Given the description of an element on the screen output the (x, y) to click on. 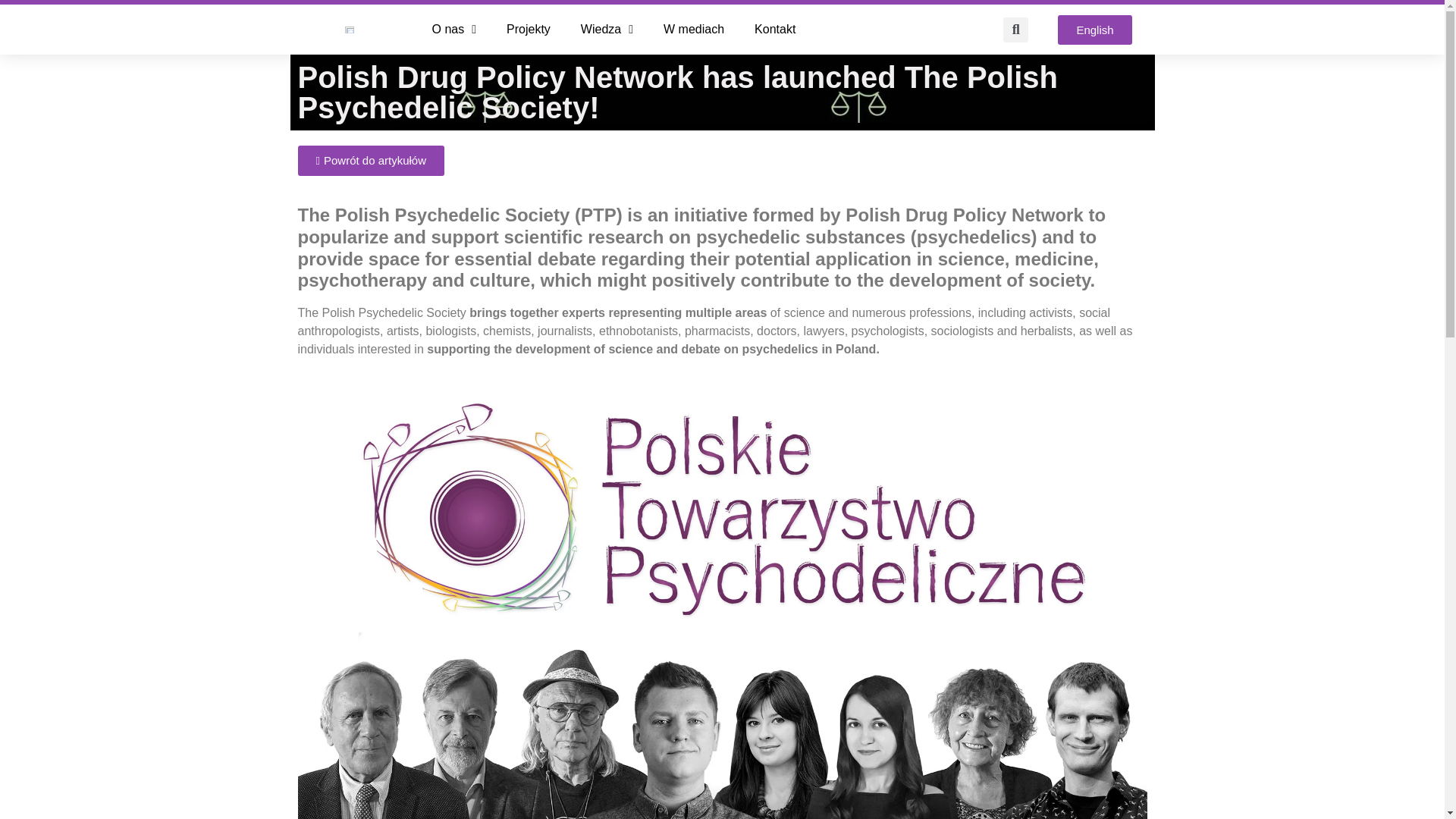
Kontakt (774, 29)
W mediach (693, 29)
Wiedza (606, 29)
English (1094, 30)
Projekty (529, 29)
O nas (454, 29)
